Given the description of an element on the screen output the (x, y) to click on. 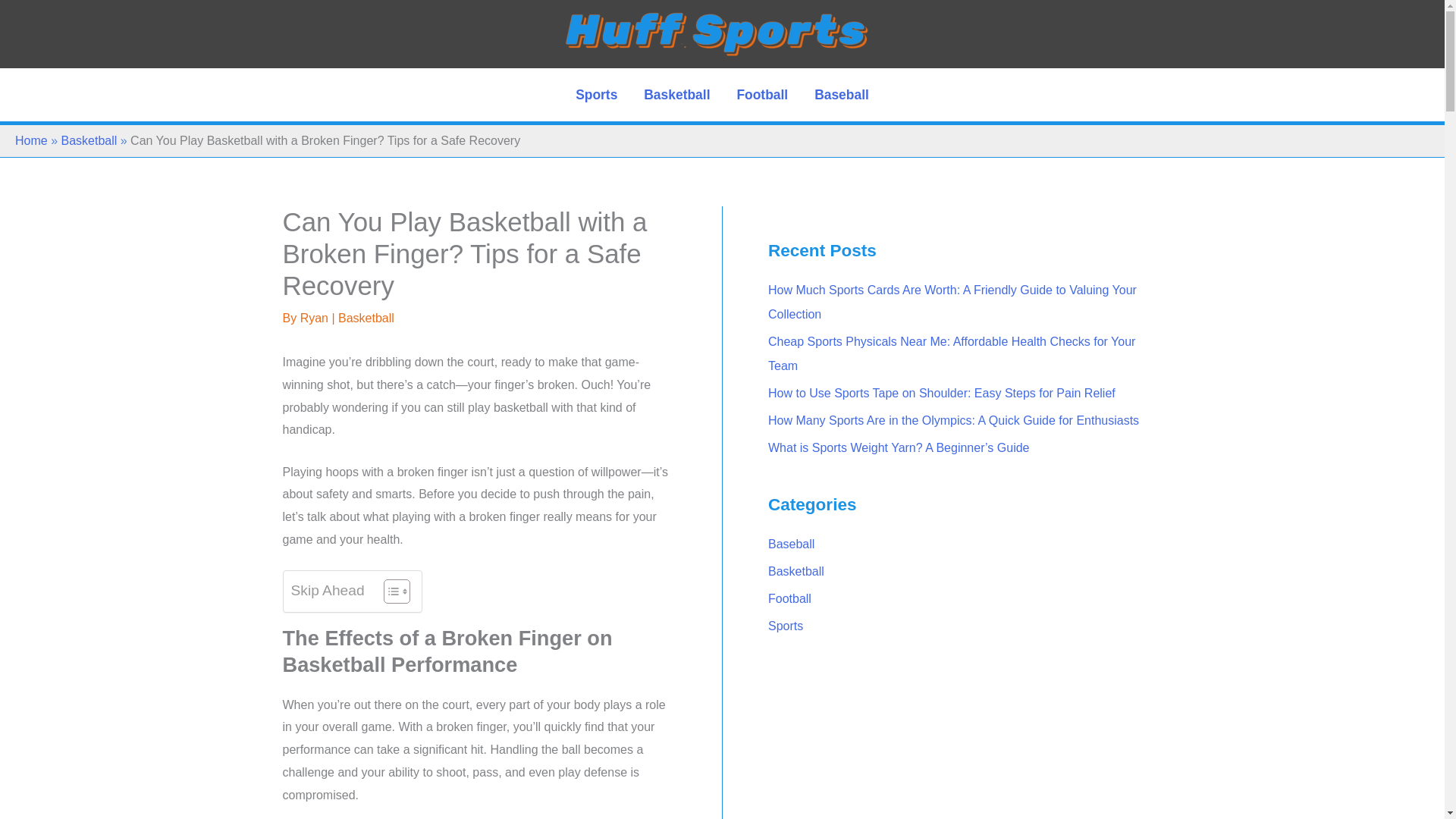
Home (31, 140)
Basketball (676, 94)
Sports (596, 94)
Baseball (842, 94)
Football (762, 94)
Basketball (88, 140)
Ryan (315, 318)
Basketball (365, 318)
View all posts by Ryan (315, 318)
